Given the description of an element on the screen output the (x, y) to click on. 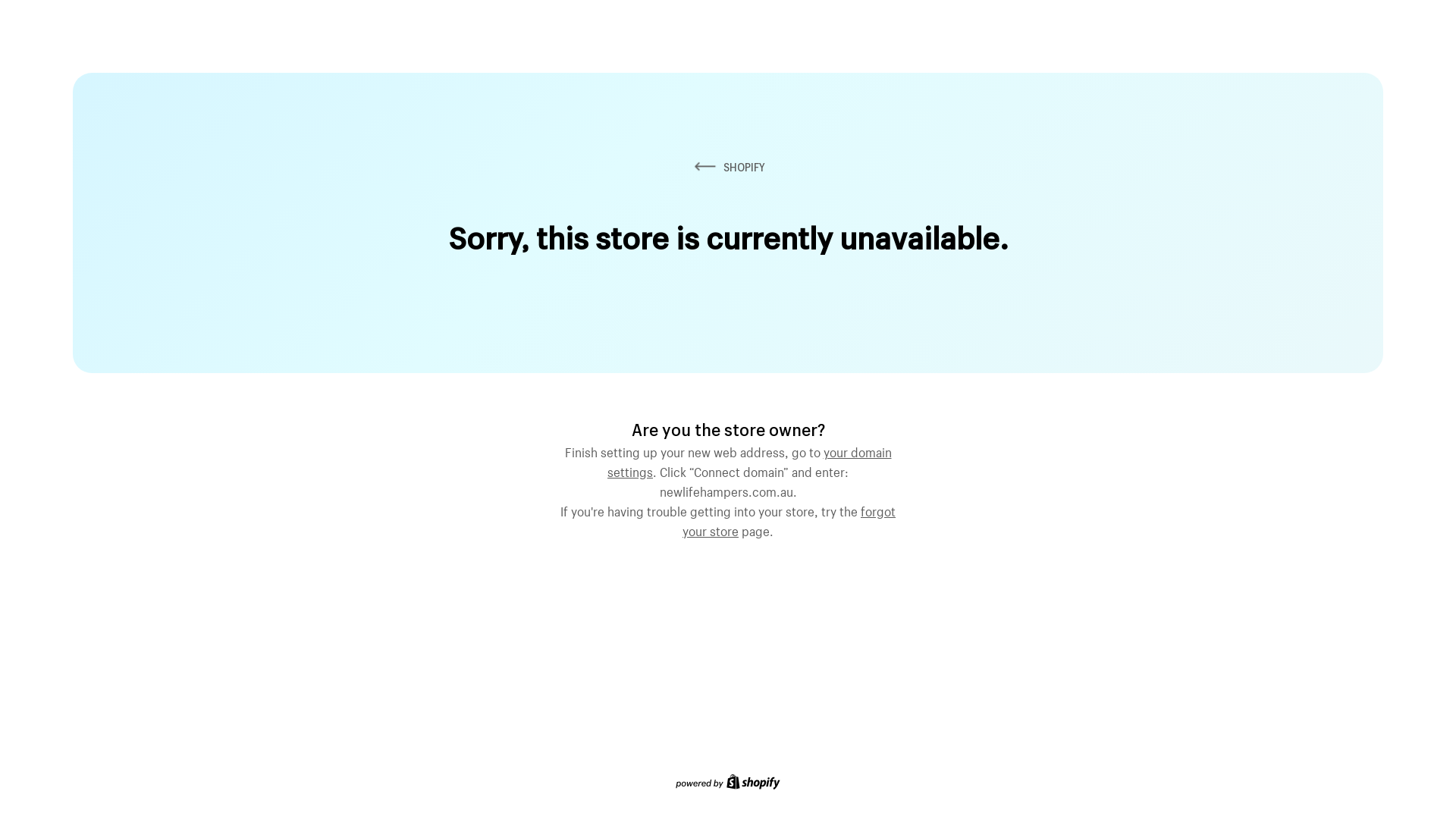
your domain settings Element type: text (749, 460)
forgot your store Element type: text (788, 519)
SHOPIFY Element type: text (727, 167)
